Given the description of an element on the screen output the (x, y) to click on. 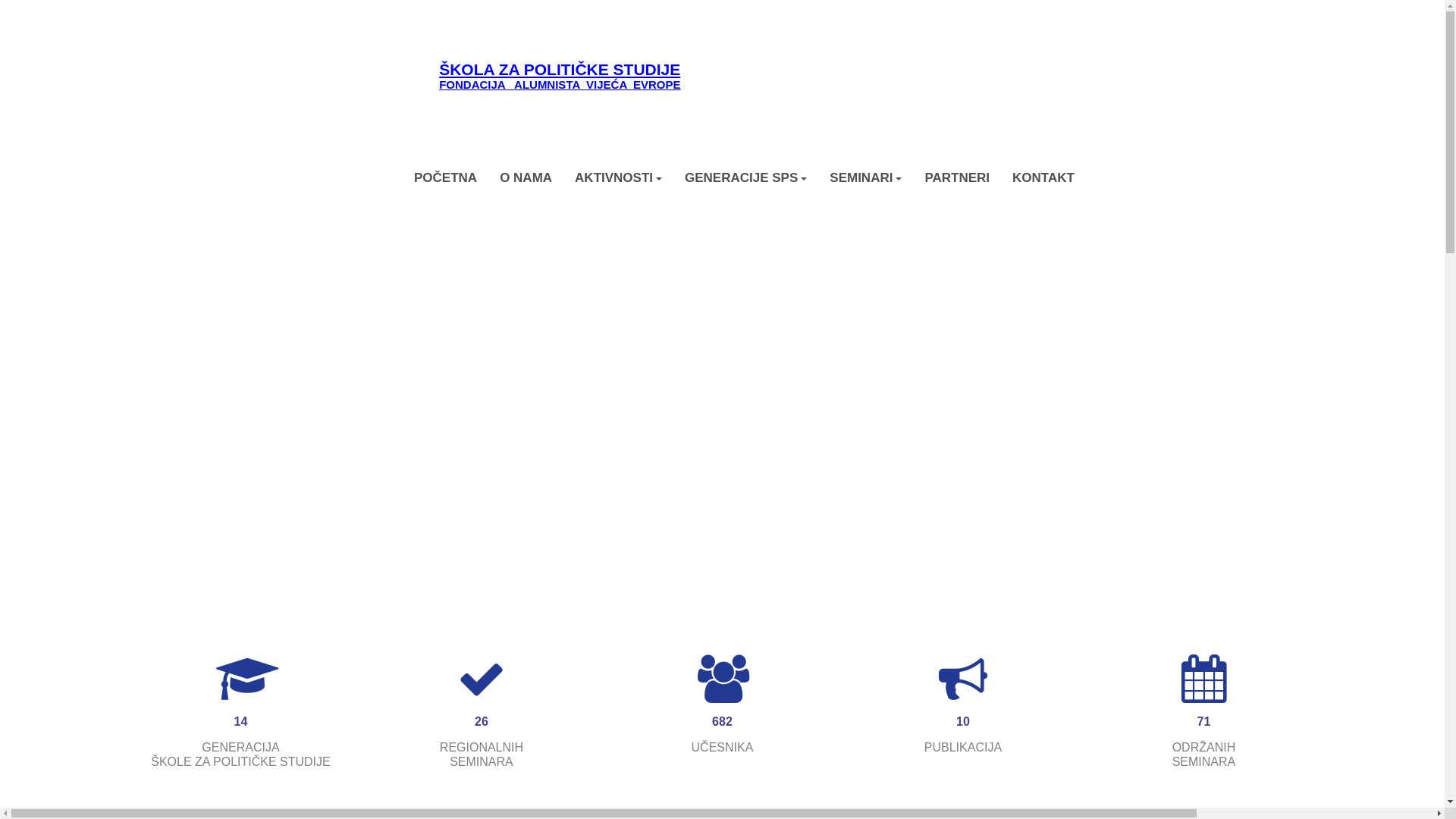
GENERACIJE SPS Element type: text (745, 177)
KONTAKT Element type: text (1043, 177)
AKTIVNOSTI Element type: text (618, 177)
SEMINARI Element type: text (865, 177)
PARTNERI Element type: text (957, 177)
O NAMA Element type: text (525, 177)
